Given the description of an element on the screen output the (x, y) to click on. 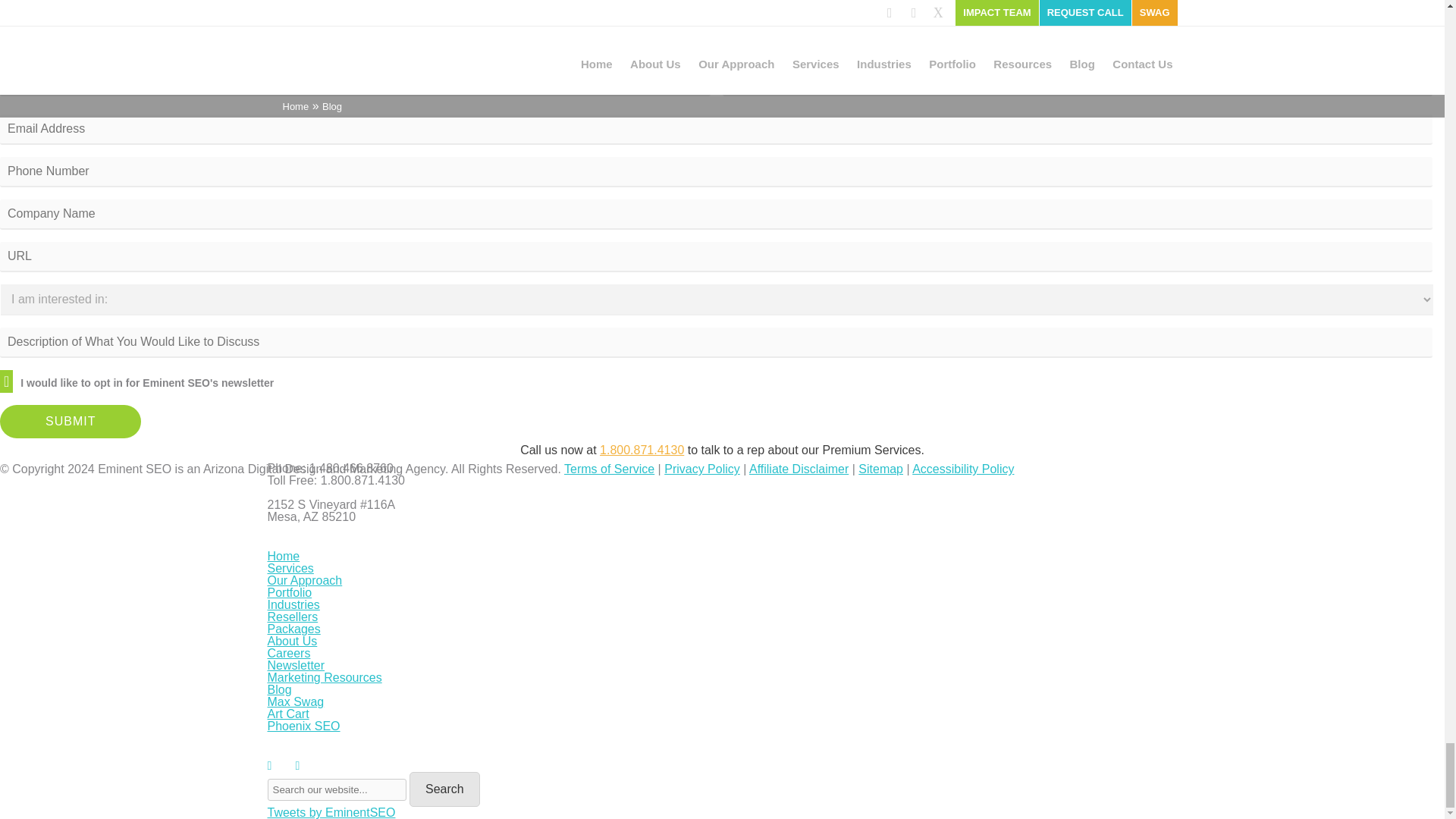
Search (444, 789)
Submit (70, 421)
